Given the description of an element on the screen output the (x, y) to click on. 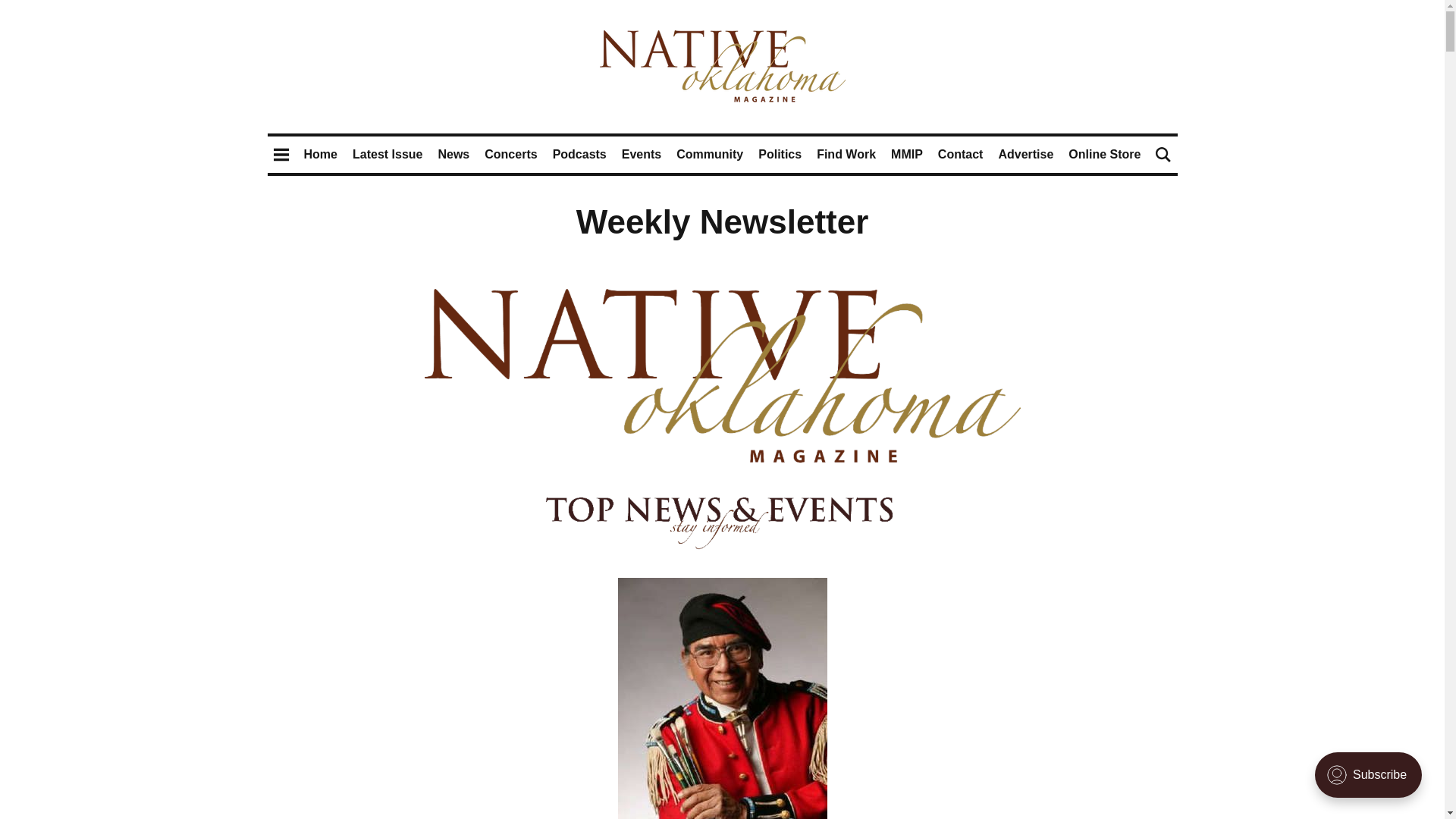
Contact (960, 154)
MMIP (907, 154)
Podcasts (580, 154)
Advertise (1024, 154)
News (453, 154)
Home (320, 154)
Online Store (1104, 154)
Find Work (846, 154)
Concerts (510, 154)
Community (709, 154)
